Given the description of an element on the screen output the (x, y) to click on. 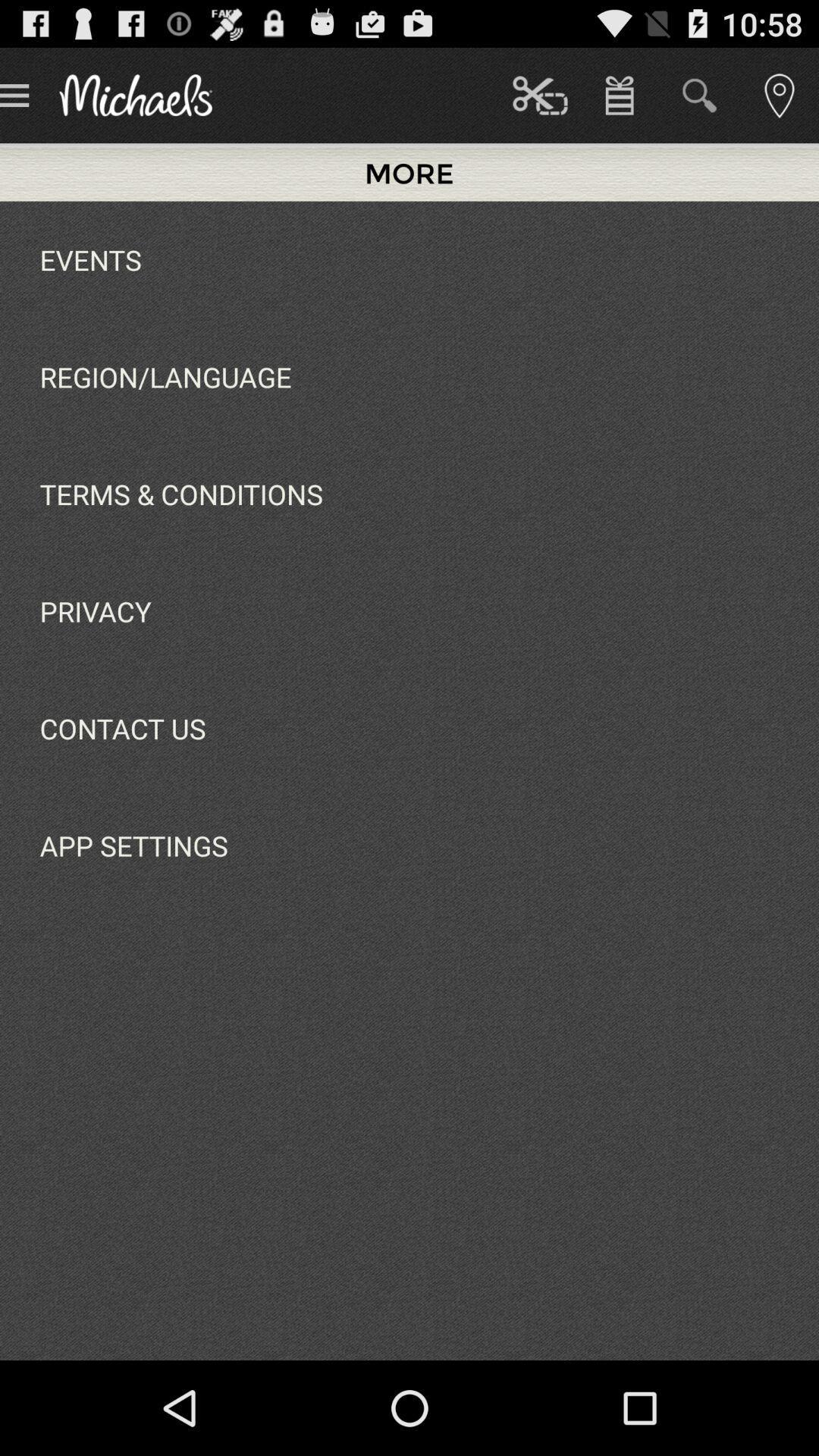
open contact us (122, 728)
